Given the description of an element on the screen output the (x, y) to click on. 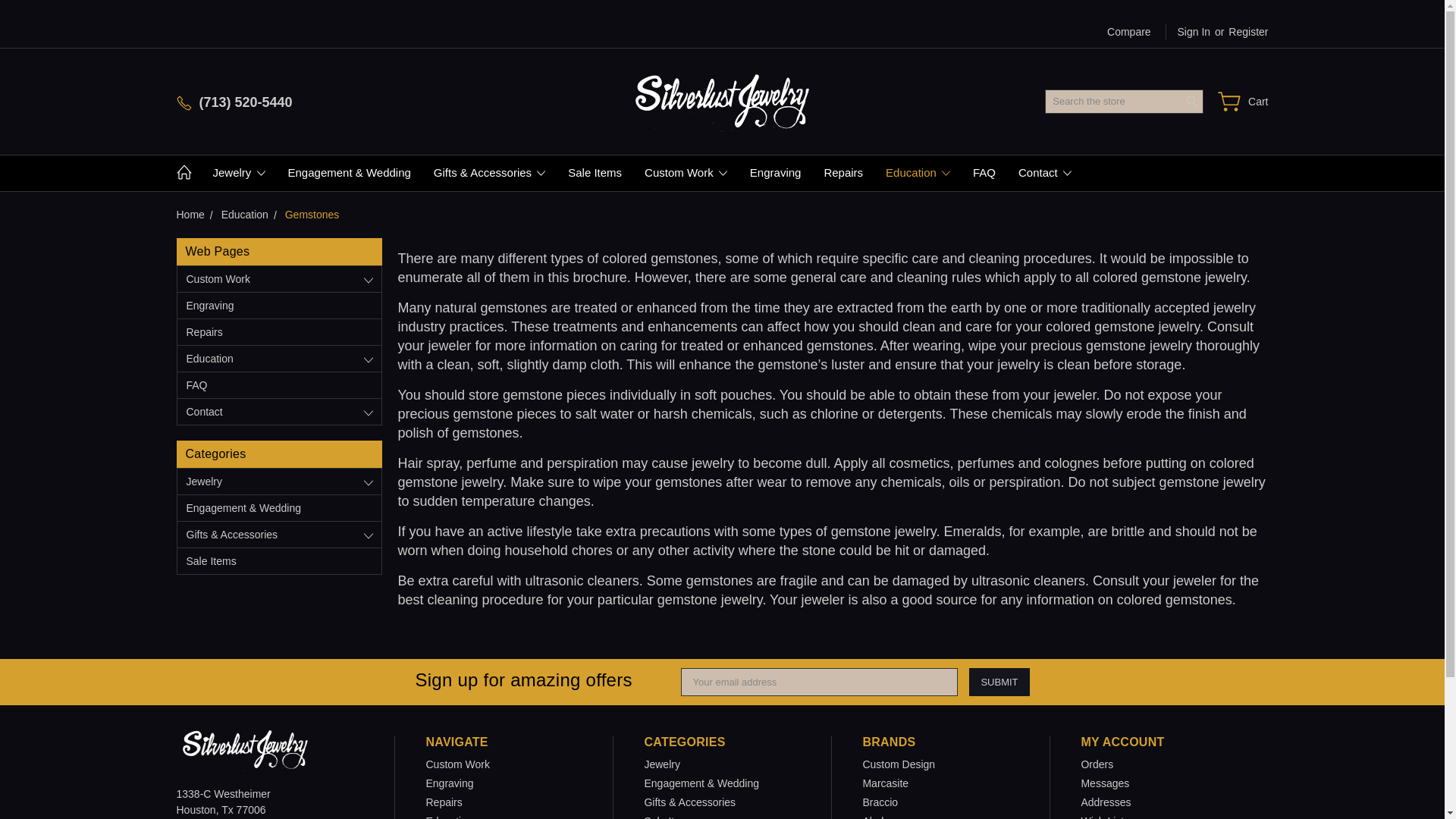
Submit (999, 682)
Register (1248, 32)
Compare (1128, 32)
Sign In (1188, 32)
Jewelry (239, 172)
Silverlust Fine Jewelry (244, 750)
Compare (1128, 32)
Cart (1242, 101)
Search (1192, 101)
Silverlust Fine Jewelry (721, 101)
